Given the description of an element on the screen output the (x, y) to click on. 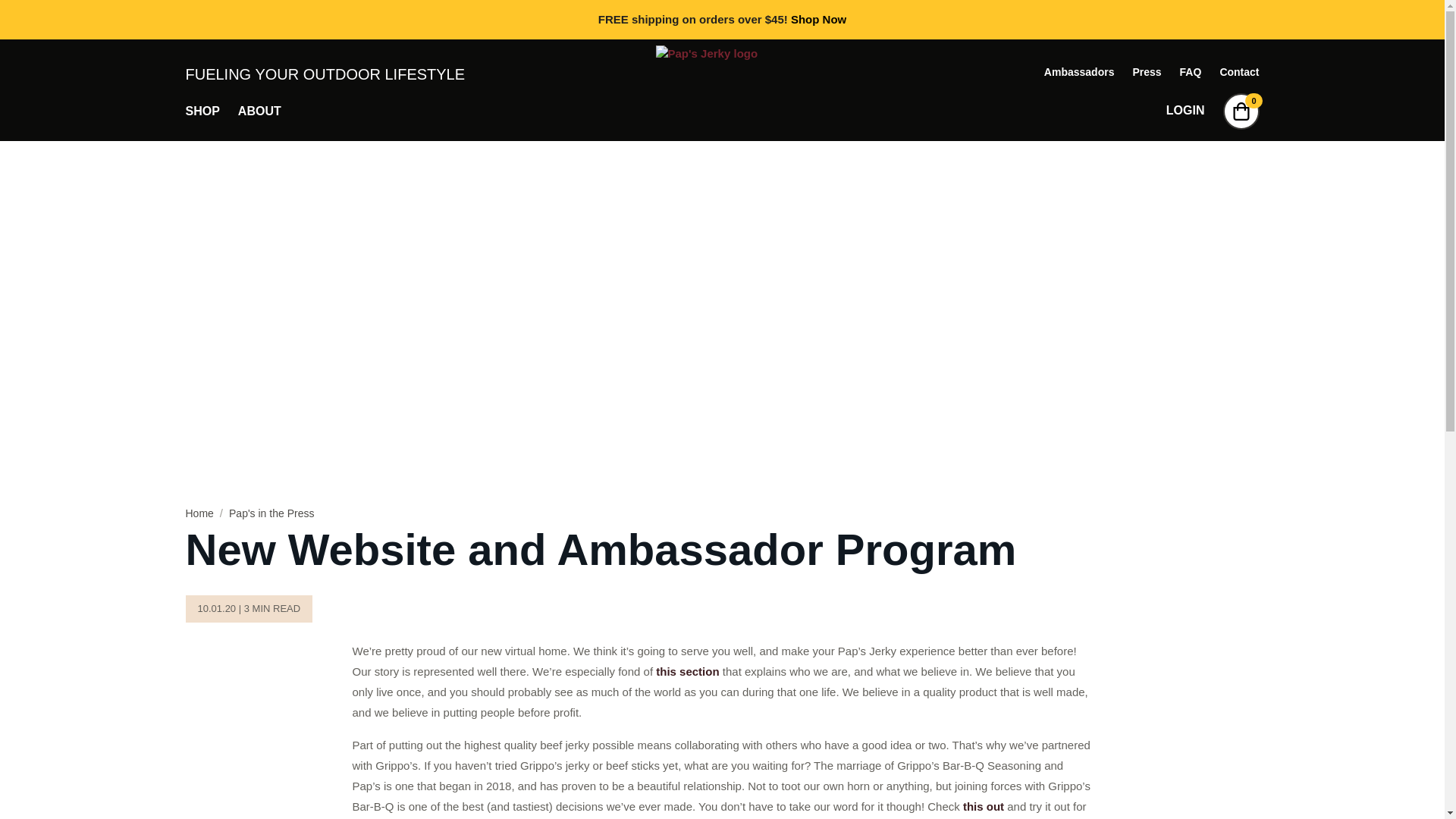
About Pap's (687, 671)
this section (687, 671)
LOGIN (1185, 110)
Grippo's Beef Jerky (983, 806)
this out (983, 806)
0 (1241, 111)
Home (198, 512)
Contact (1239, 71)
Ambassadors (1079, 71)
ABOUT (259, 110)
